Given the description of an element on the screen output the (x, y) to click on. 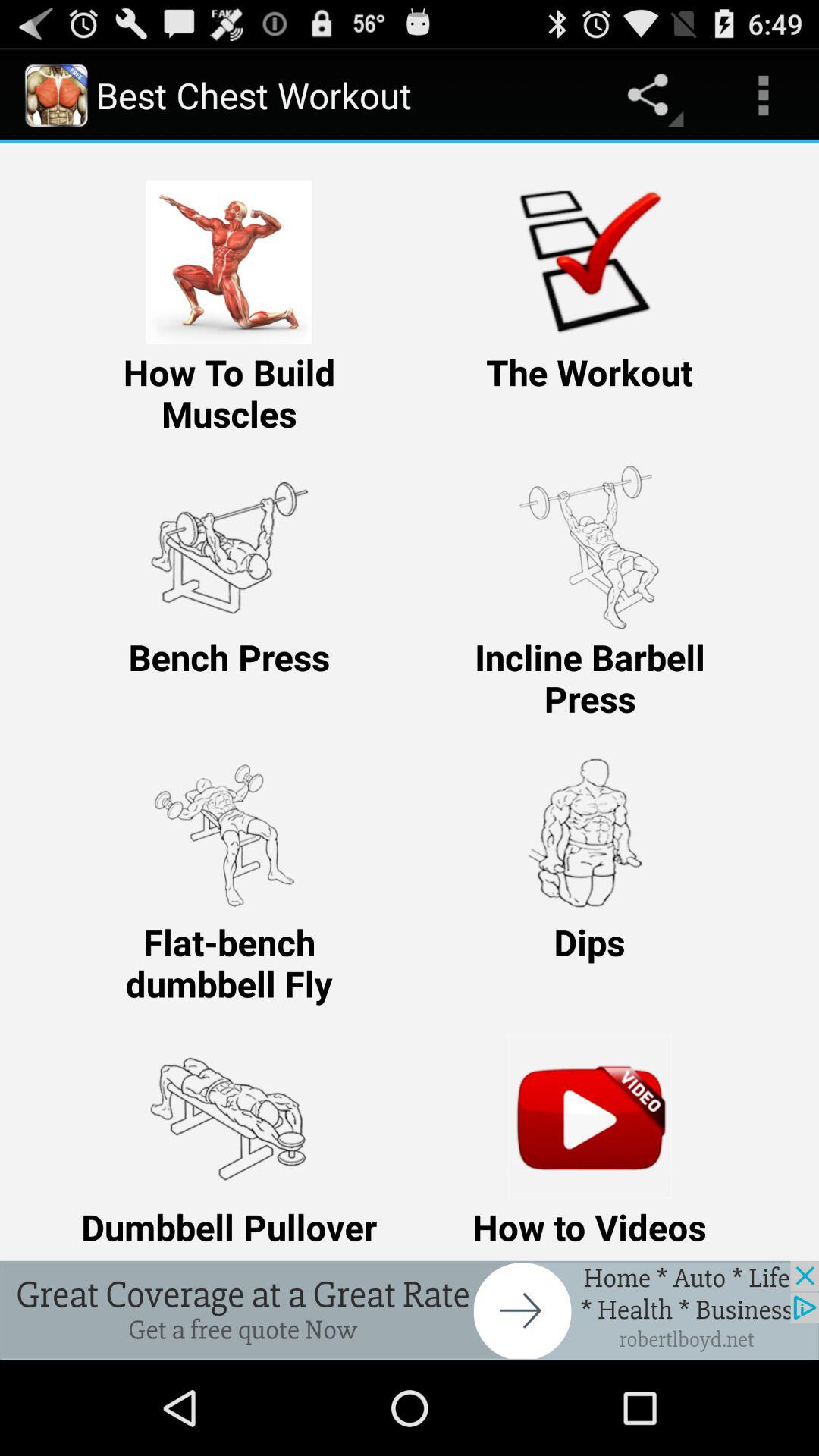
click the advertisement (409, 1310)
